Given the description of an element on the screen output the (x, y) to click on. 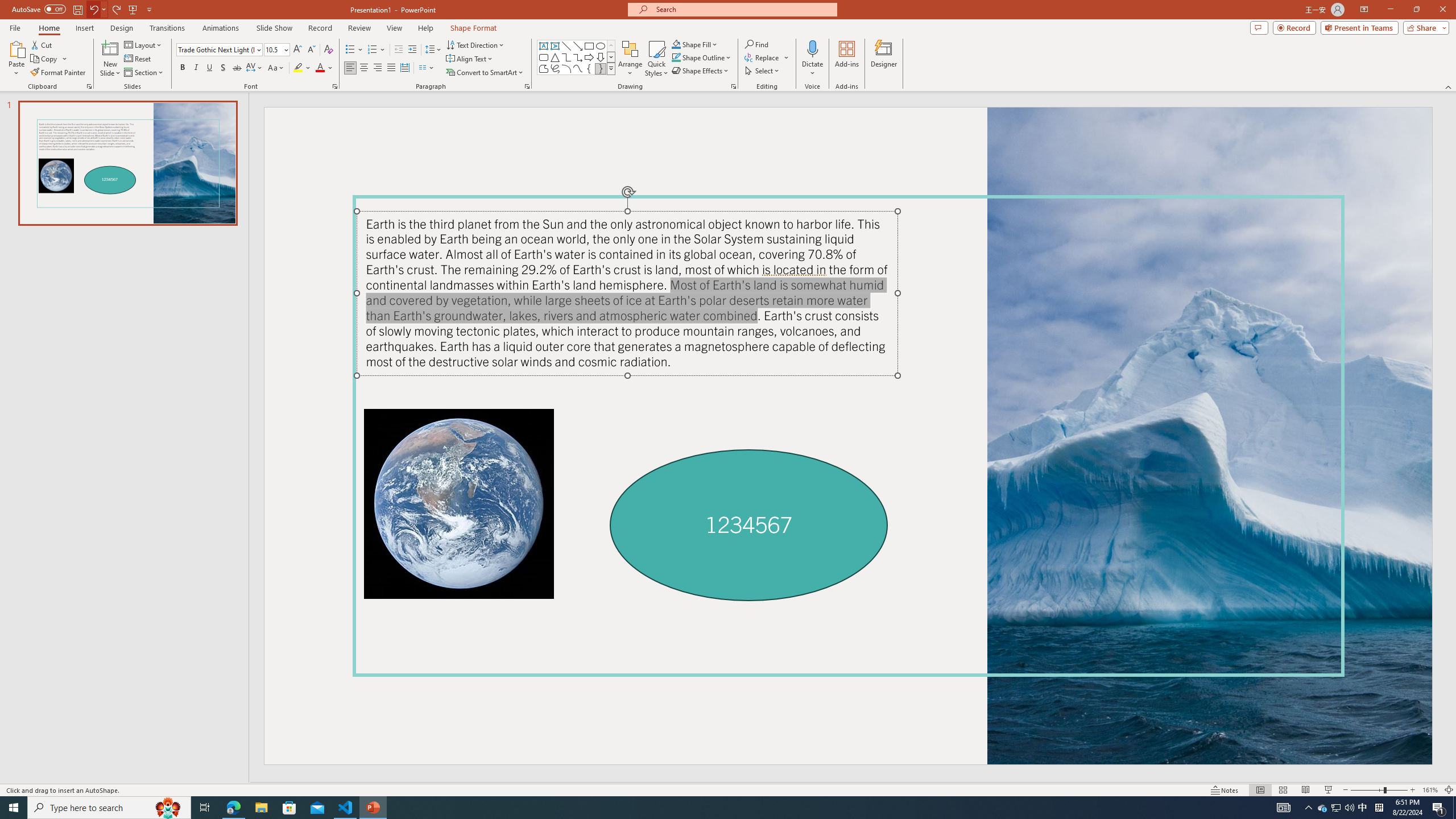
Reset (138, 58)
Underline (209, 67)
Italic (195, 67)
Format Object... (733, 85)
Arc (566, 68)
Clear Formatting (327, 49)
Freeform: Scribble (554, 68)
